Given the description of an element on the screen output the (x, y) to click on. 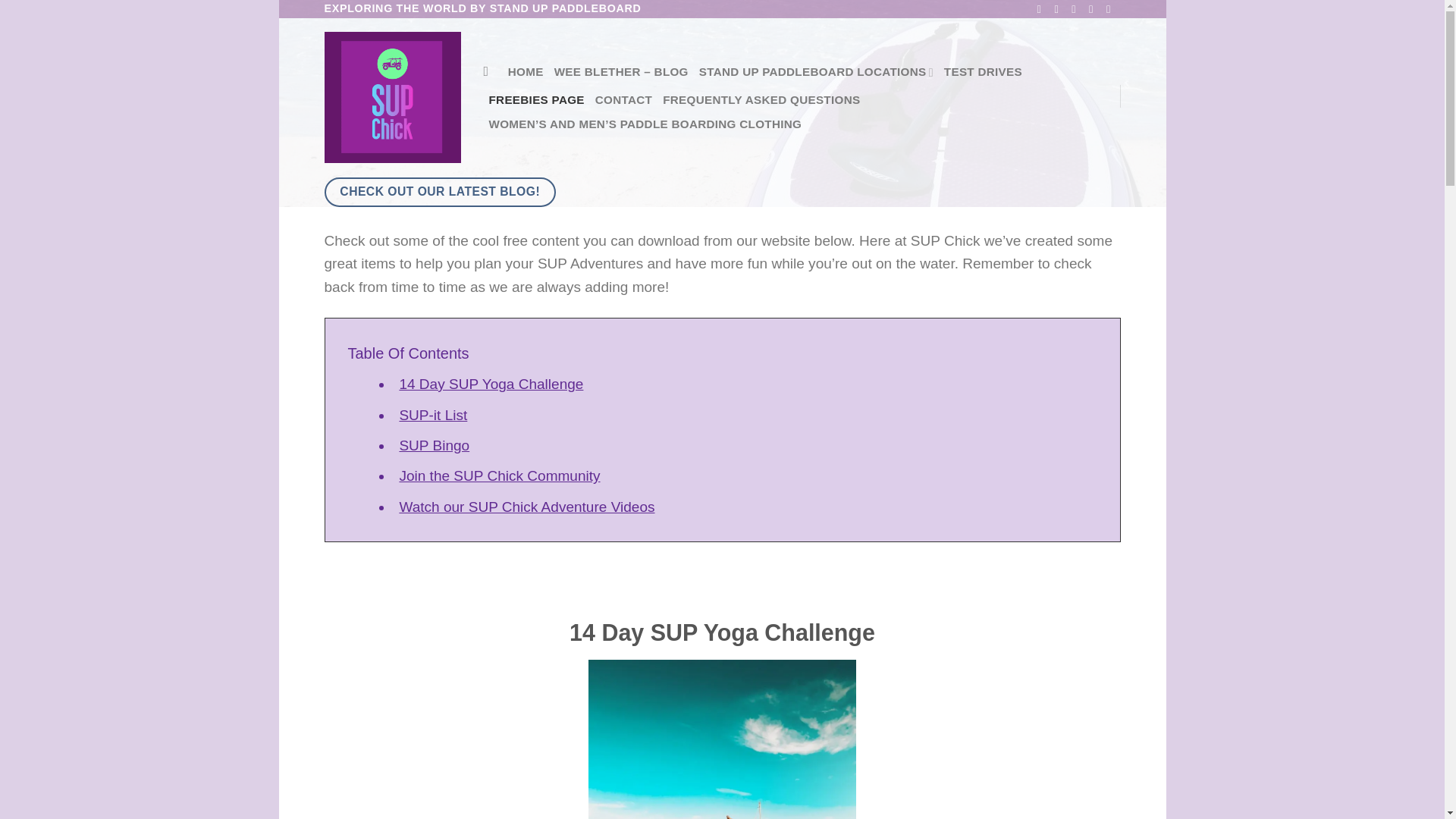
CONTACT (623, 99)
HOME (525, 71)
Watch our SUP Chick Adventure Videos (525, 506)
SUP Chick - Exploring the World by SUP (392, 96)
FREEBIES PAGE (535, 99)
Join the SUP Chick Community (498, 475)
CHECK OUT OUR LATEST BLOG! (440, 192)
14 Day SUP Yoga Challenge (490, 383)
FREQUENTLY ASKED QUESTIONS (761, 99)
SUP-it List (432, 415)
